Given the description of an element on the screen output the (x, y) to click on. 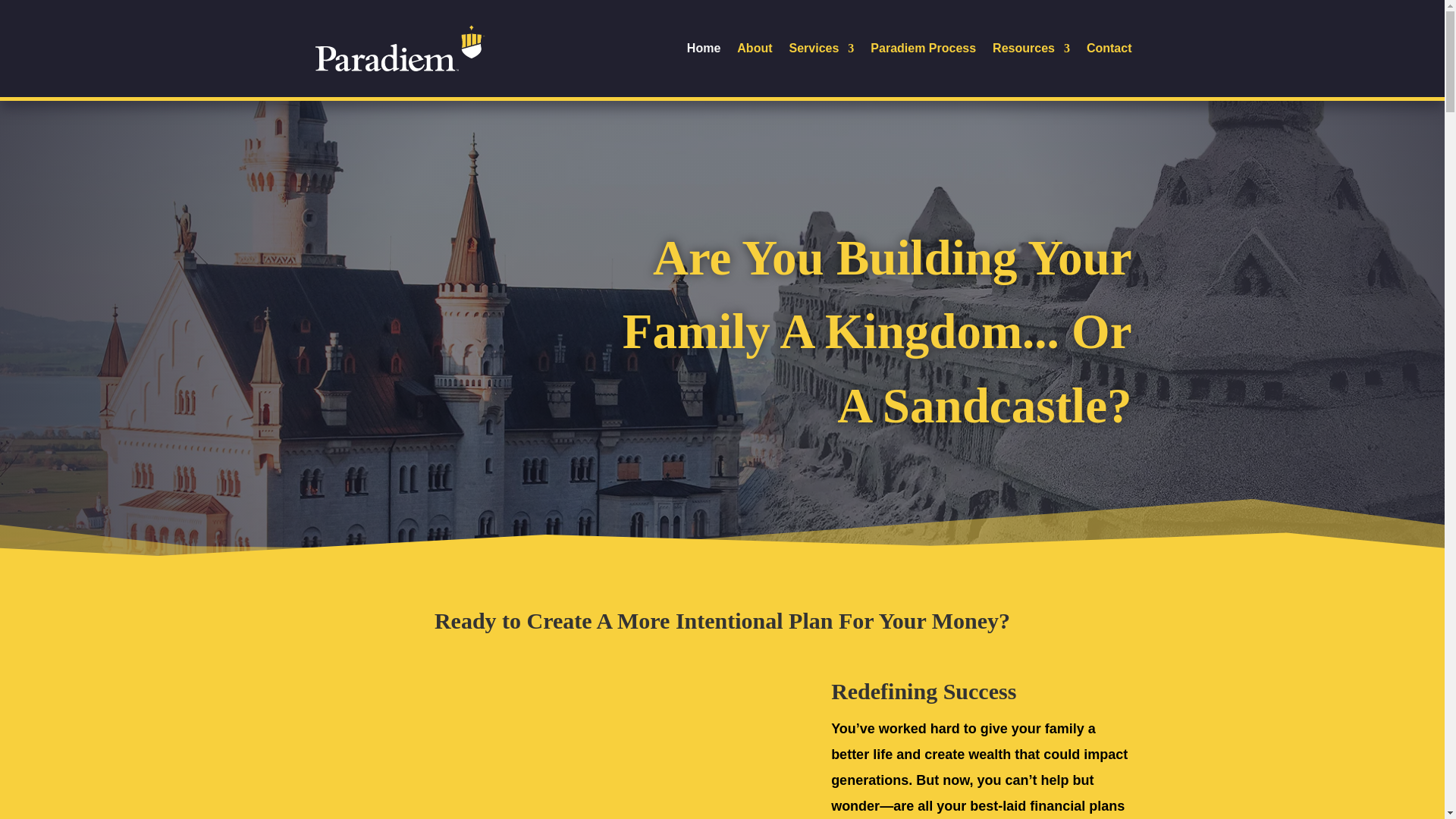
Paradiem Process (922, 70)
Paradiem Documentary 2022 (549, 746)
Services (821, 70)
Resources (1031, 70)
